Given the description of an element on the screen output the (x, y) to click on. 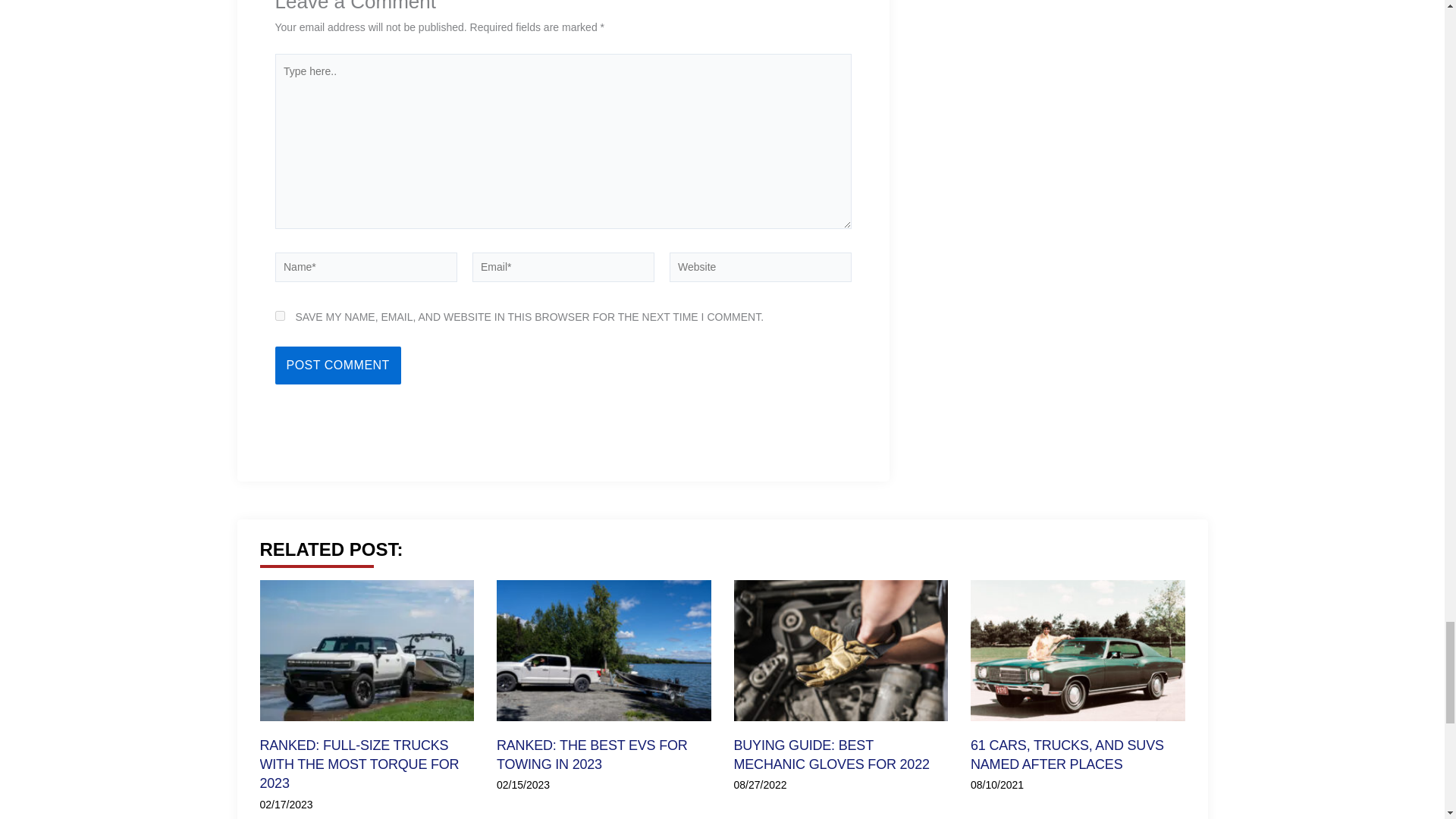
Post Comment (337, 365)
yes (279, 316)
